Given the description of an element on the screen output the (x, y) to click on. 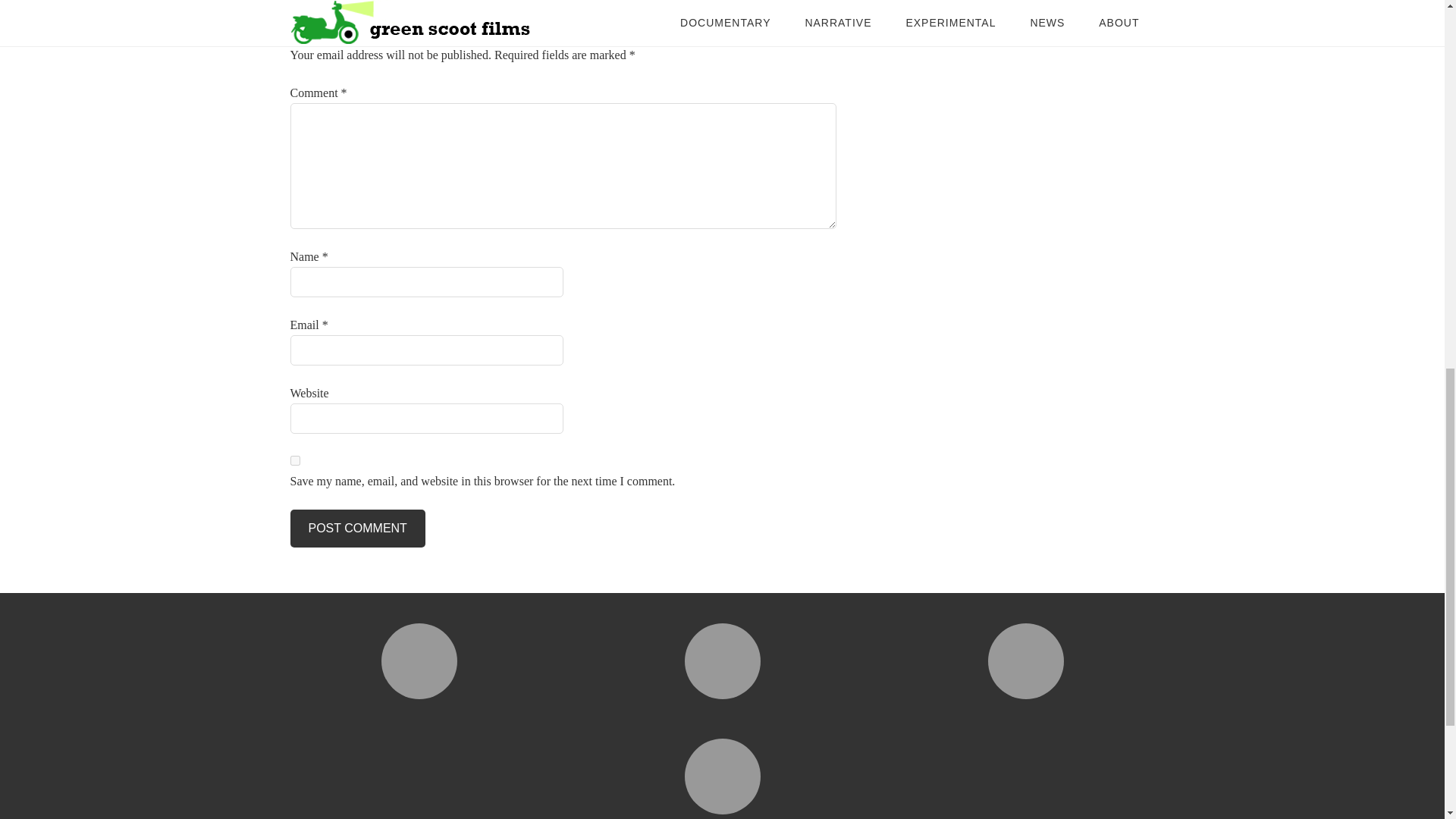
Post Comment (357, 528)
Post Comment (357, 528)
yes (294, 460)
